Given the description of an element on the screen output the (x, y) to click on. 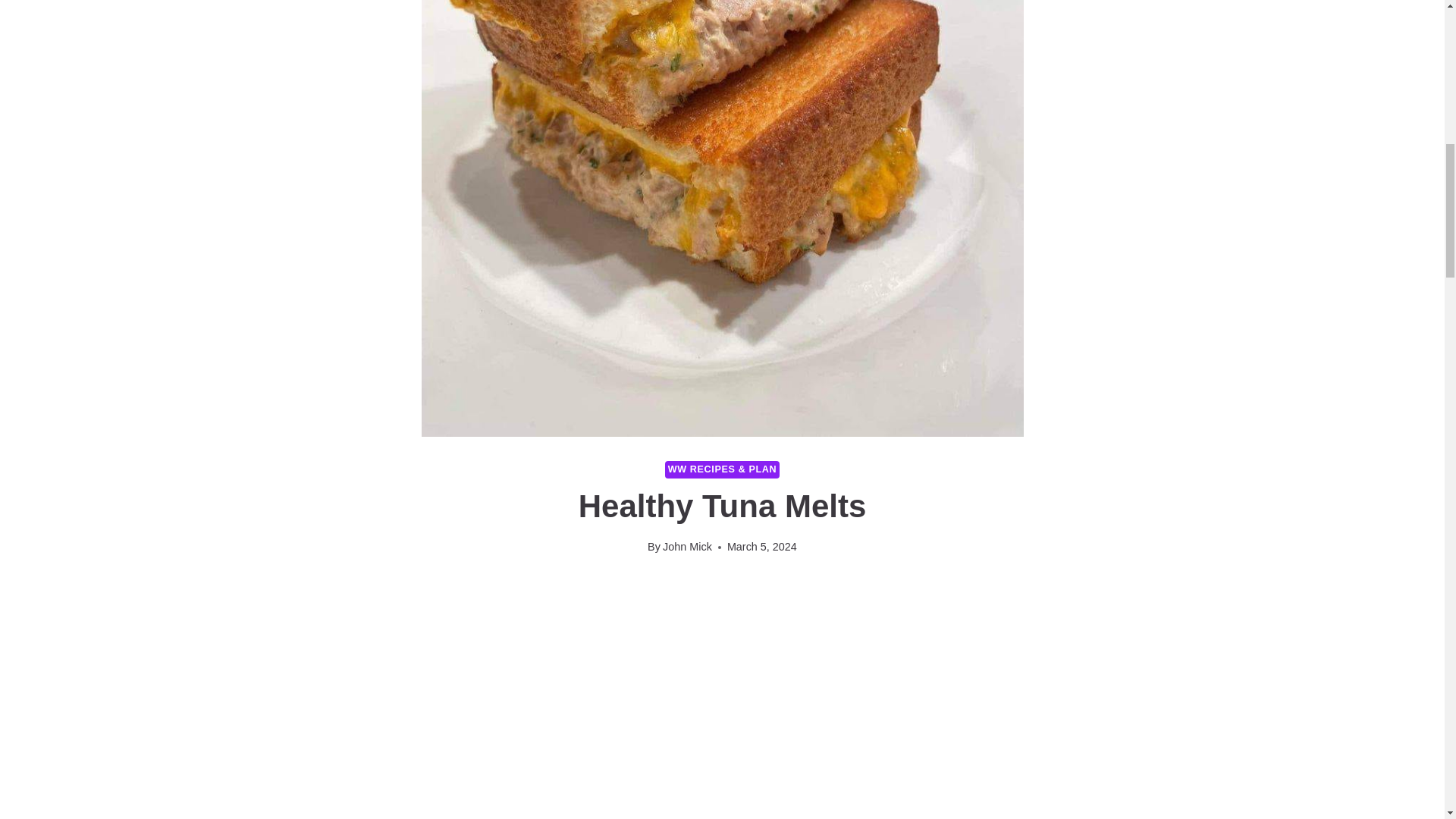
John Mick (686, 546)
Advertisement (698, 613)
Advertisement (722, 739)
